Given the description of an element on the screen output the (x, y) to click on. 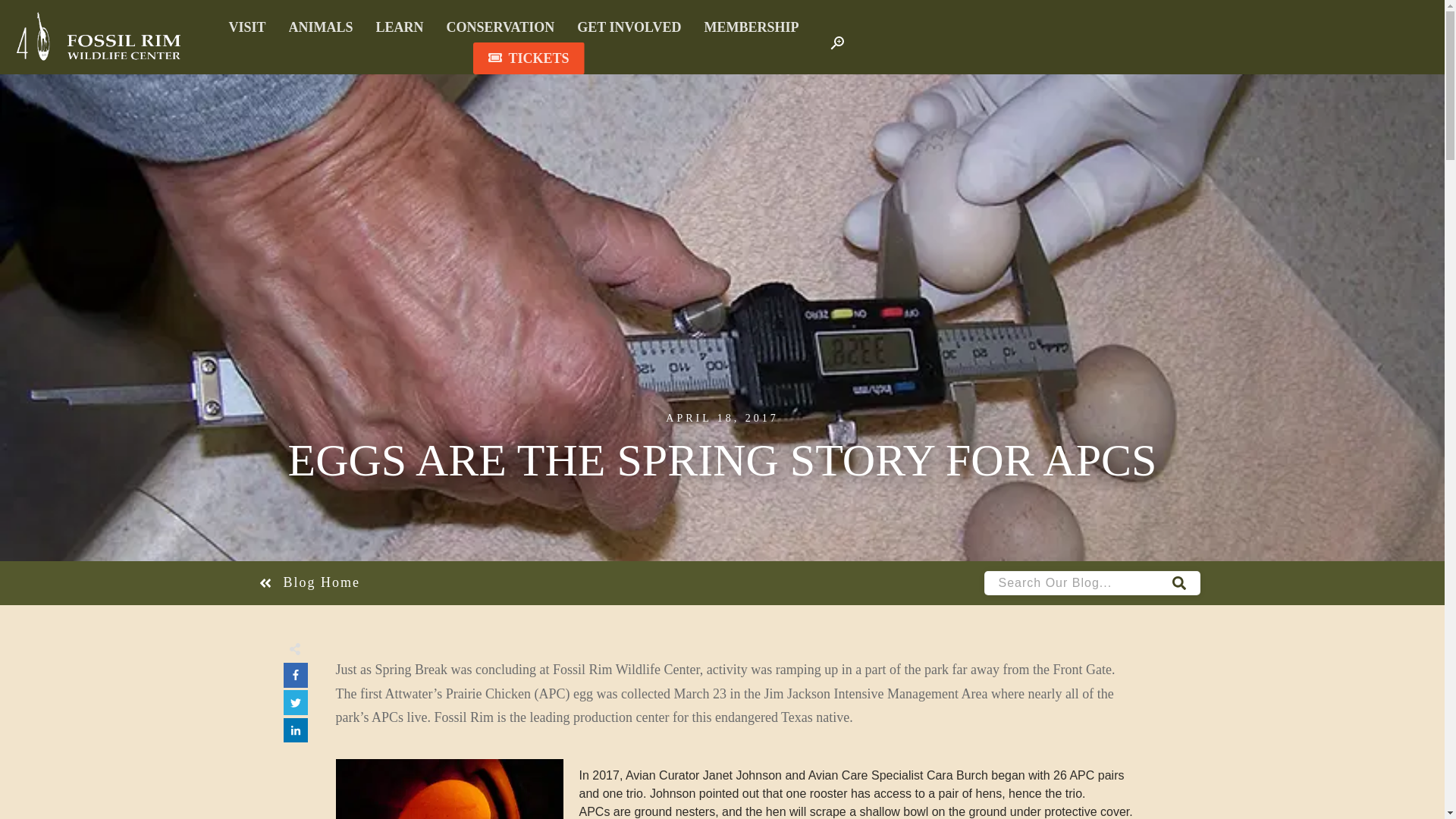
MEMBERSHIP (750, 26)
TICKETS (528, 58)
VISIT (246, 26)
GET INVOLVED (628, 26)
ANIMALS (320, 26)
LEARN (399, 26)
CONSERVATION (500, 26)
